Given the description of an element on the screen output the (x, y) to click on. 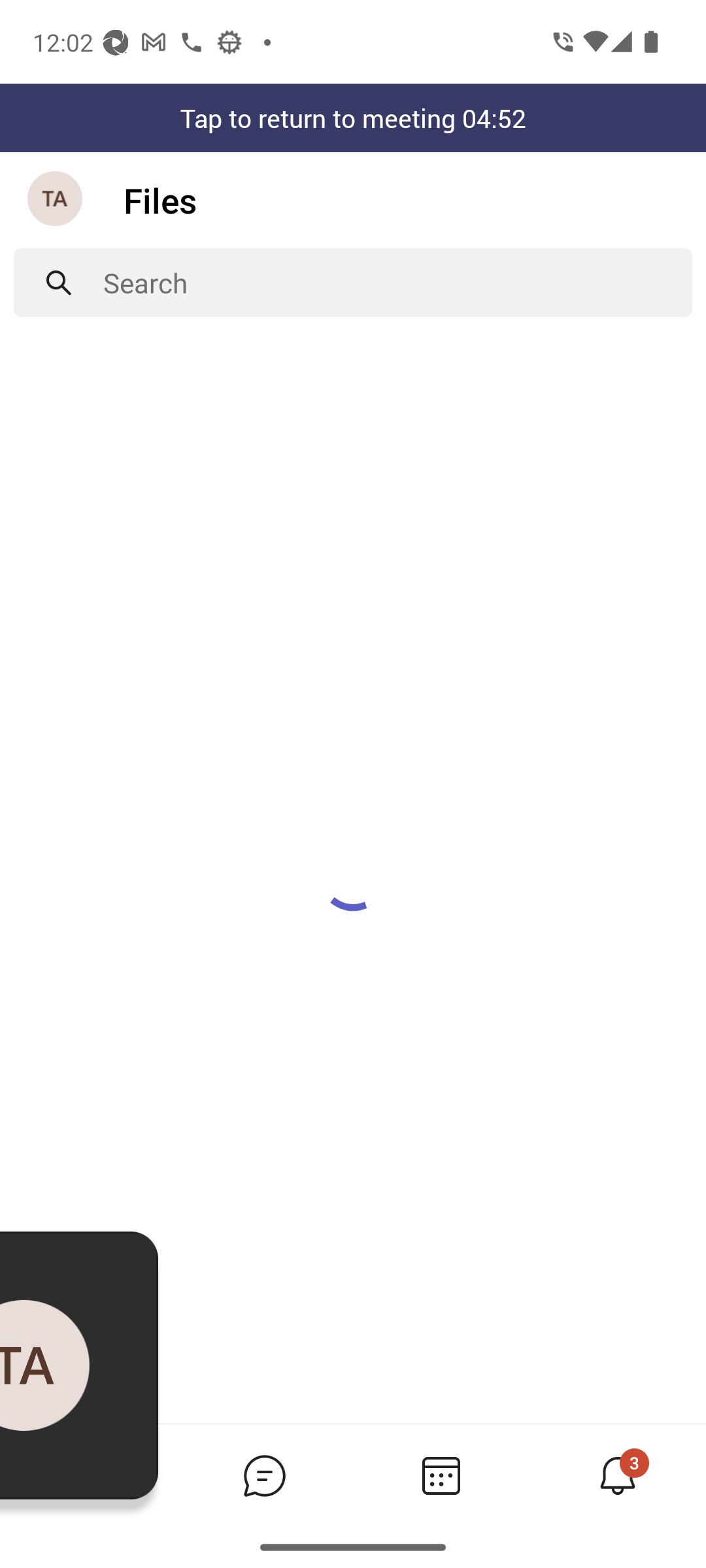
Tap to return to meeting 04:52 (353, 117)
Navigation (56, 199)
Search (397, 281)
Chat tab,2 of 4, not selected (264, 1475)
Calendar tab,3 of 4, not selected (441, 1475)
Activity tab,4 of 4, not selected, 3 new 3 (617, 1475)
